Given the description of an element on the screen output the (x, y) to click on. 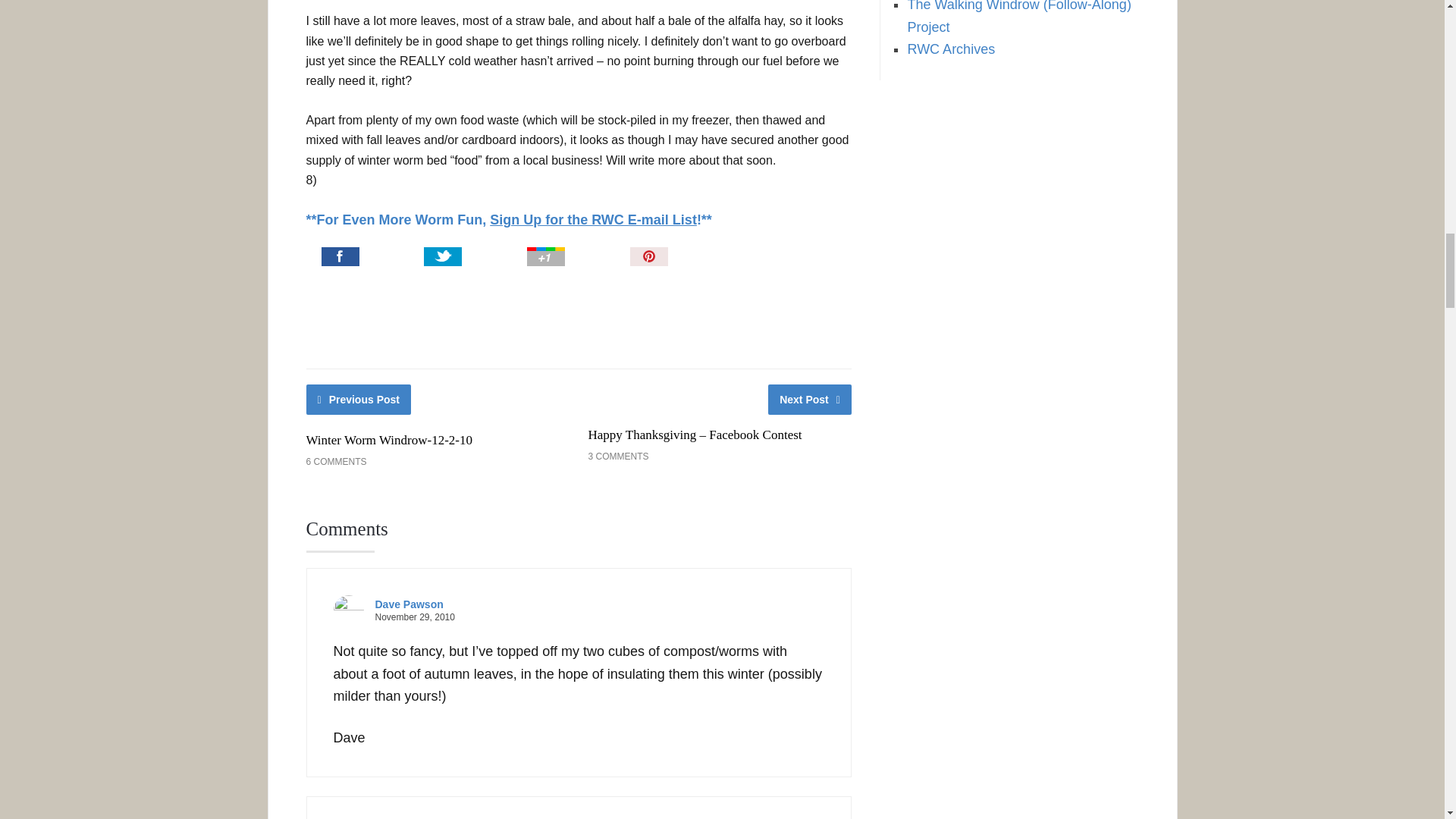
Previous Post (358, 399)
6 COMMENTS (335, 461)
Dave Pawson (408, 604)
Winter Worm Windrow-12-2-10 (388, 440)
Pin It! (687, 258)
Next Post (809, 399)
3 COMMENTS (617, 456)
